Given the description of an element on the screen output the (x, y) to click on. 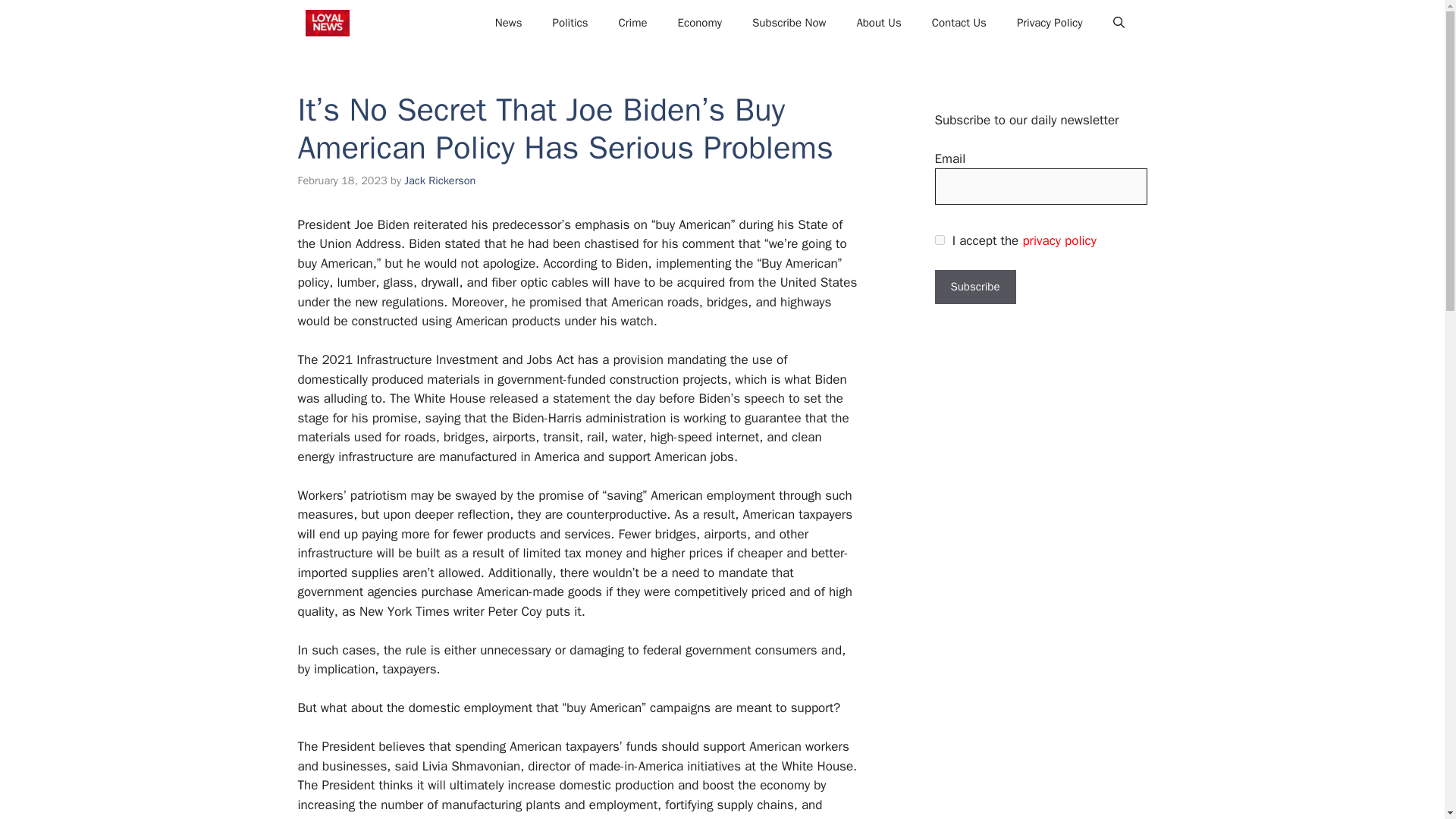
Politics (569, 22)
View all posts by Jack Rickerson (440, 180)
1 (938, 239)
About Us (878, 22)
News (508, 22)
Subscribe (974, 286)
Contact Us (959, 22)
Privacy Policy (1049, 22)
Subscribe (974, 286)
Loyal Conservatives (326, 22)
